Given the description of an element on the screen output the (x, y) to click on. 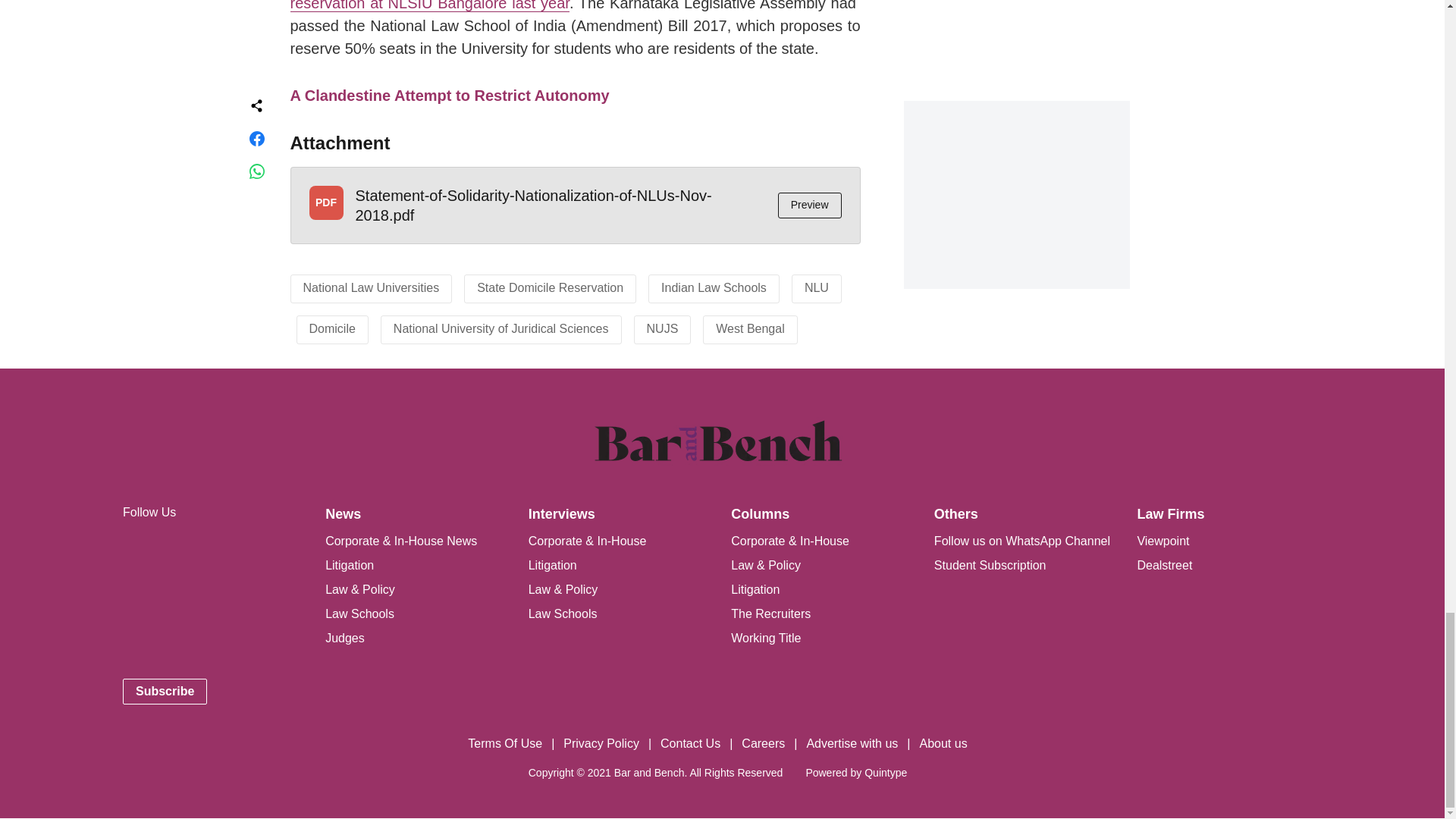
State Domicile Reservation (550, 287)
domicile reservation at NLSIU Bangalore last year (574, 6)
NLU (816, 287)
Domicile (331, 328)
National University of Juridical Sciences (500, 328)
West Bengal (750, 328)
Indian Law Schools (714, 287)
NUJS (662, 328)
Preview (809, 205)
National Law Universities (370, 287)
